Given the description of an element on the screen output the (x, y) to click on. 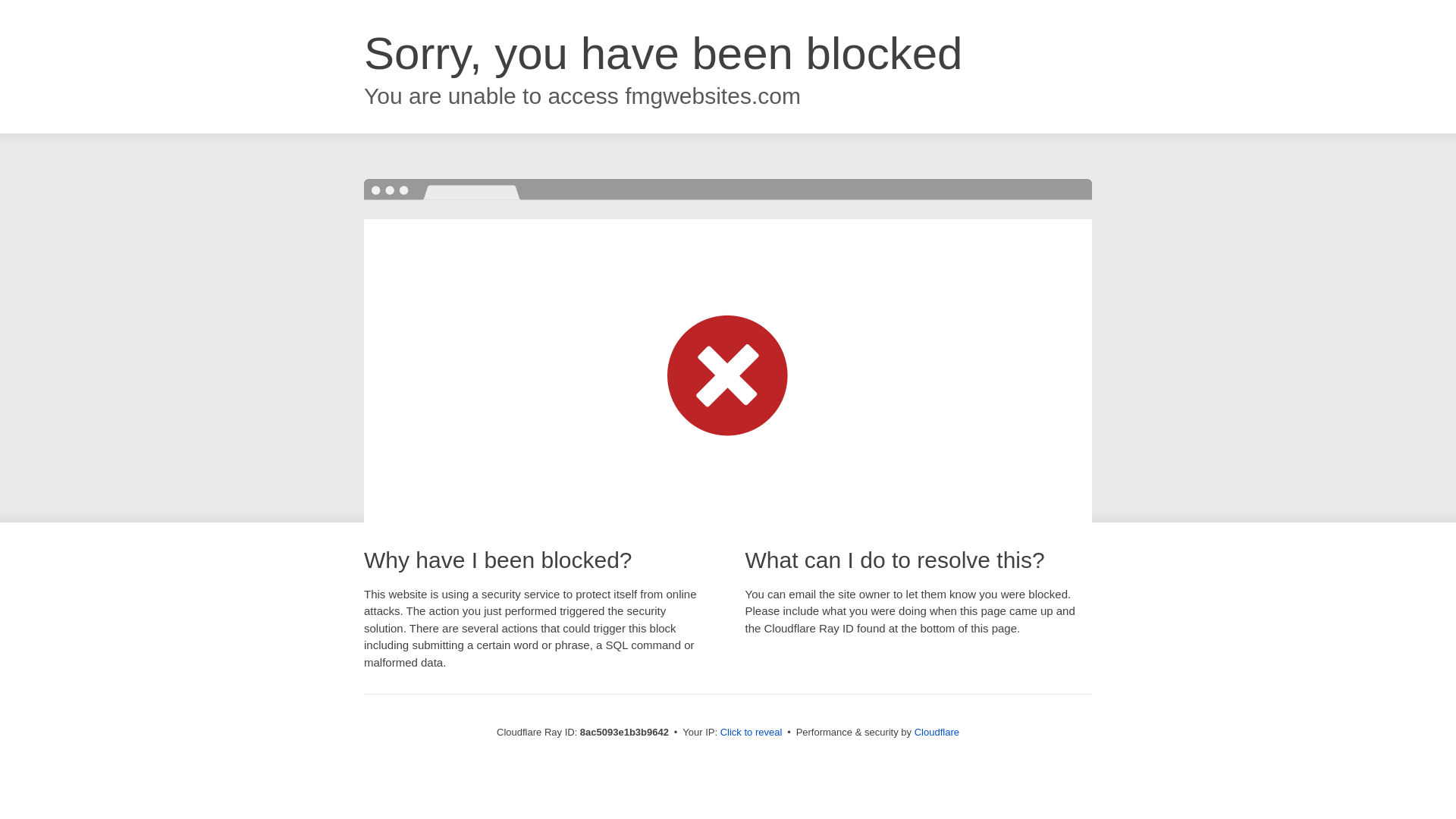
Cloudflare (936, 731)
Click to reveal (751, 732)
